Given the description of an element on the screen output the (x, y) to click on. 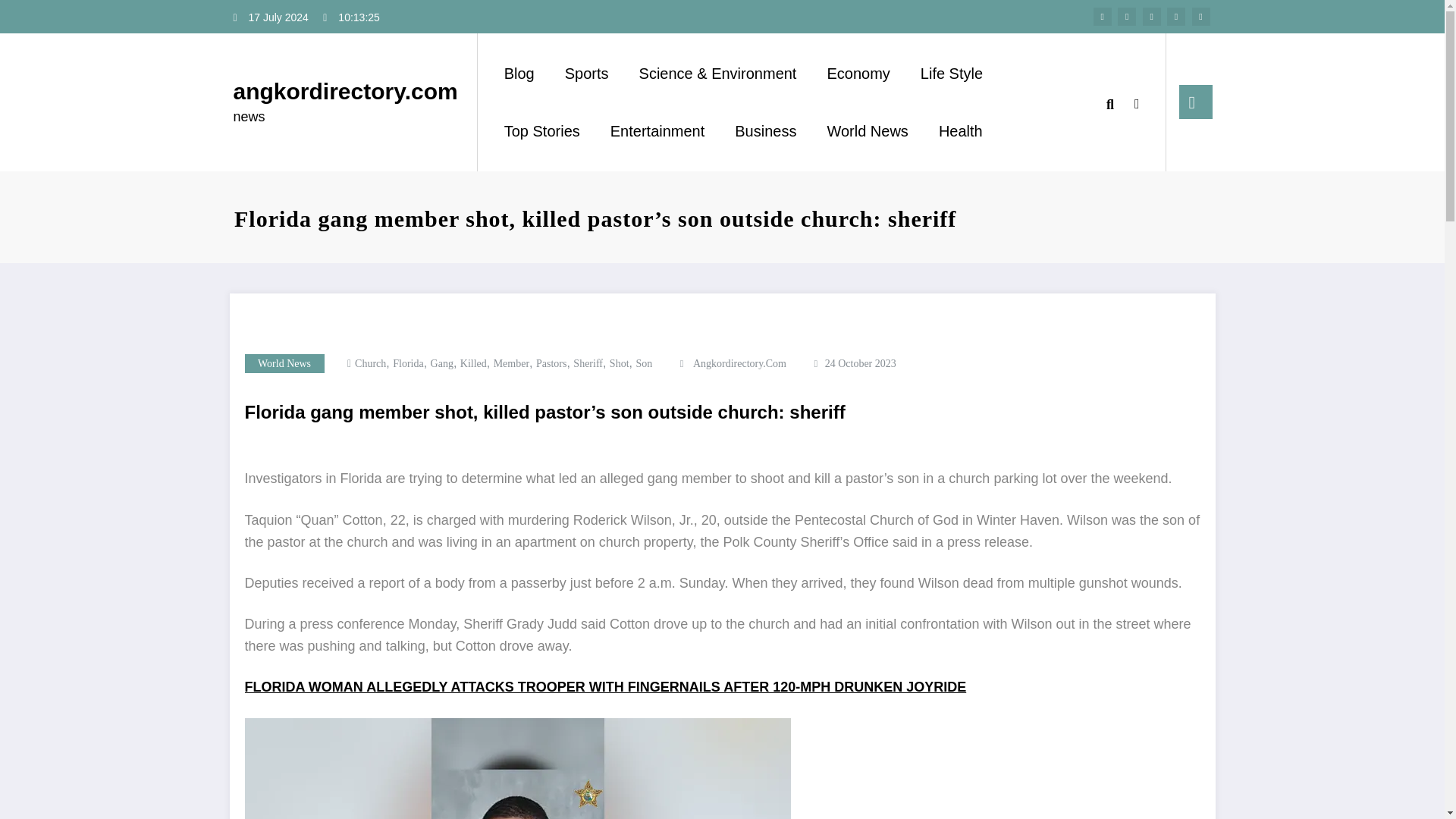
World News (283, 363)
Killed (473, 363)
angkordirectory.com (345, 91)
Son (643, 363)
Life Style (951, 73)
Shot (619, 363)
24 October 2023 (860, 363)
Gang (441, 363)
Member (511, 363)
Angkordirectory.Com (739, 363)
Top Stories (542, 131)
World News (866, 131)
Pastors (550, 363)
Blog (519, 73)
